Given the description of an element on the screen output the (x, y) to click on. 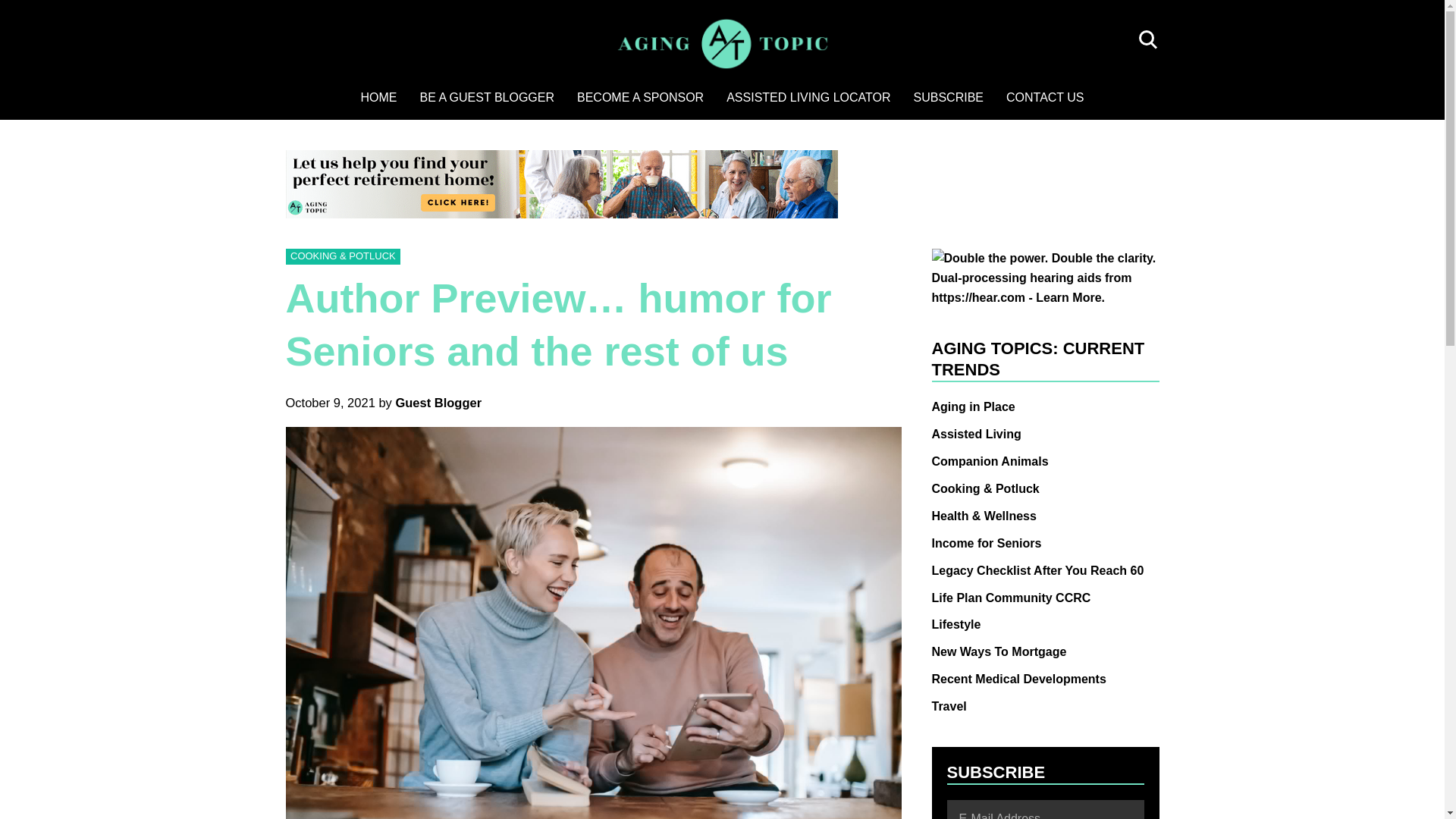
Learn more about Hear.com (1044, 257)
Assisted Living (975, 433)
HOME (378, 97)
Aging in Place (972, 406)
Guest Blogger (437, 402)
BECOME A SPONSOR (640, 97)
CONTACT US (1045, 97)
BE A GUEST BLOGGER (486, 97)
ASSISTED LIVING LOCATOR (808, 97)
SUBSCRIBE (948, 97)
Companion Animals (989, 461)
